Given the description of an element on the screen output the (x, y) to click on. 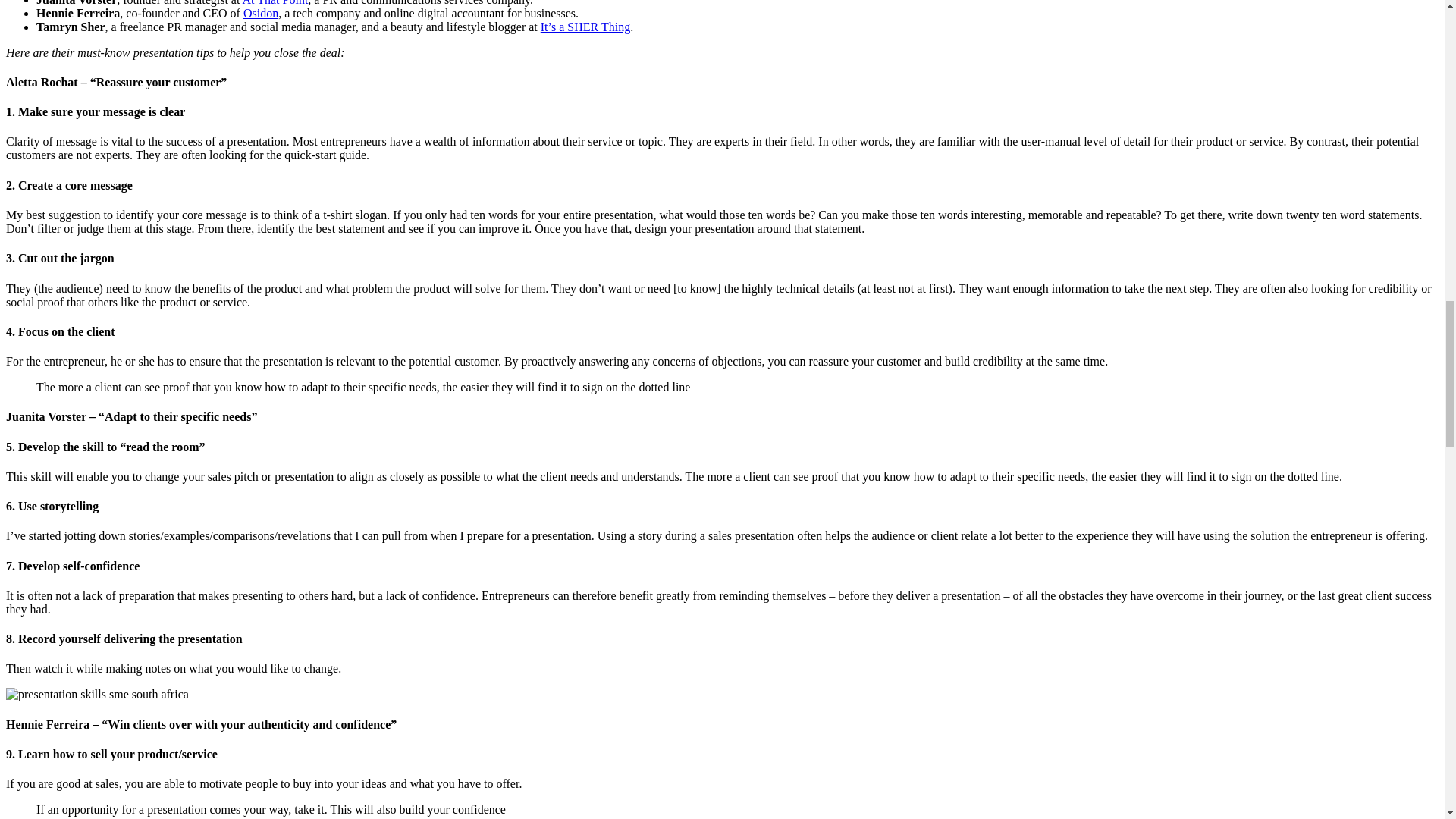
At That Point (275, 2)
Osidon (260, 12)
